Given the description of an element on the screen output the (x, y) to click on. 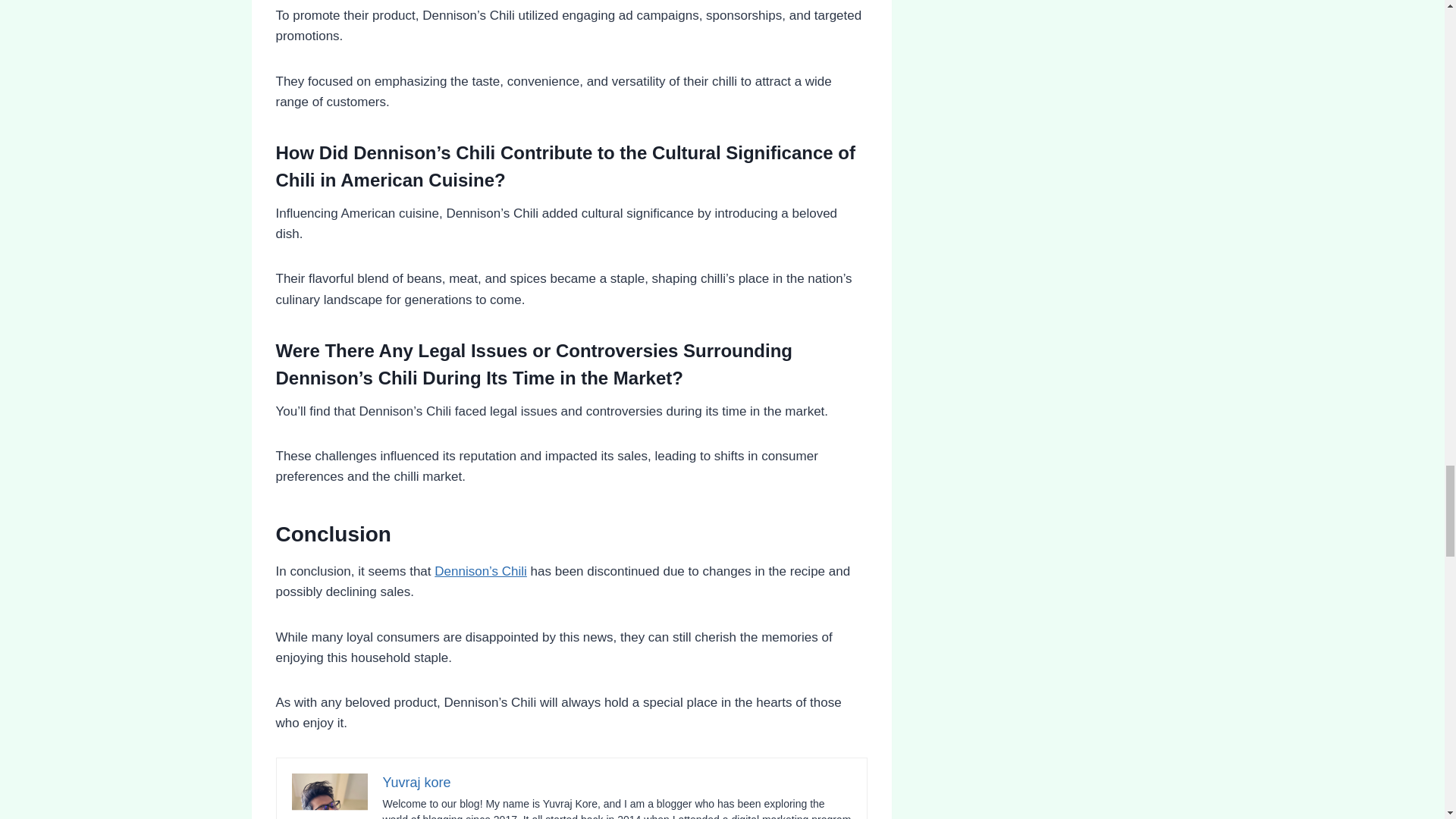
Yuvraj kore (415, 782)
